Given the description of an element on the screen output the (x, y) to click on. 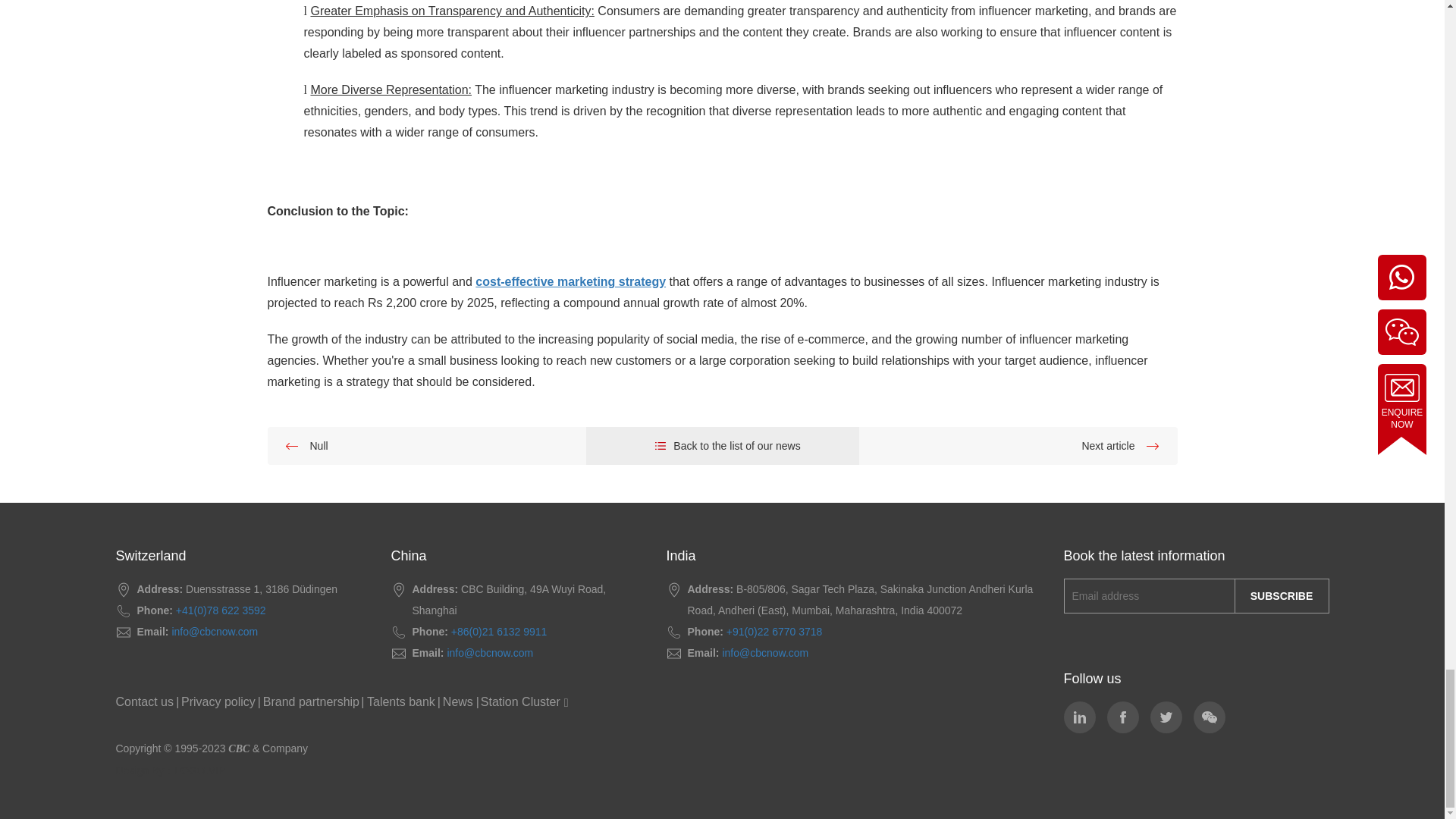
Null (425, 445)
Next article (1017, 445)
Contact us (144, 702)
SUBSCRIBE (1280, 595)
cost-effective marketing strategy (570, 281)
Back to the list of our news (722, 445)
Privacy policy (218, 702)
